Given the description of an element on the screen output the (x, y) to click on. 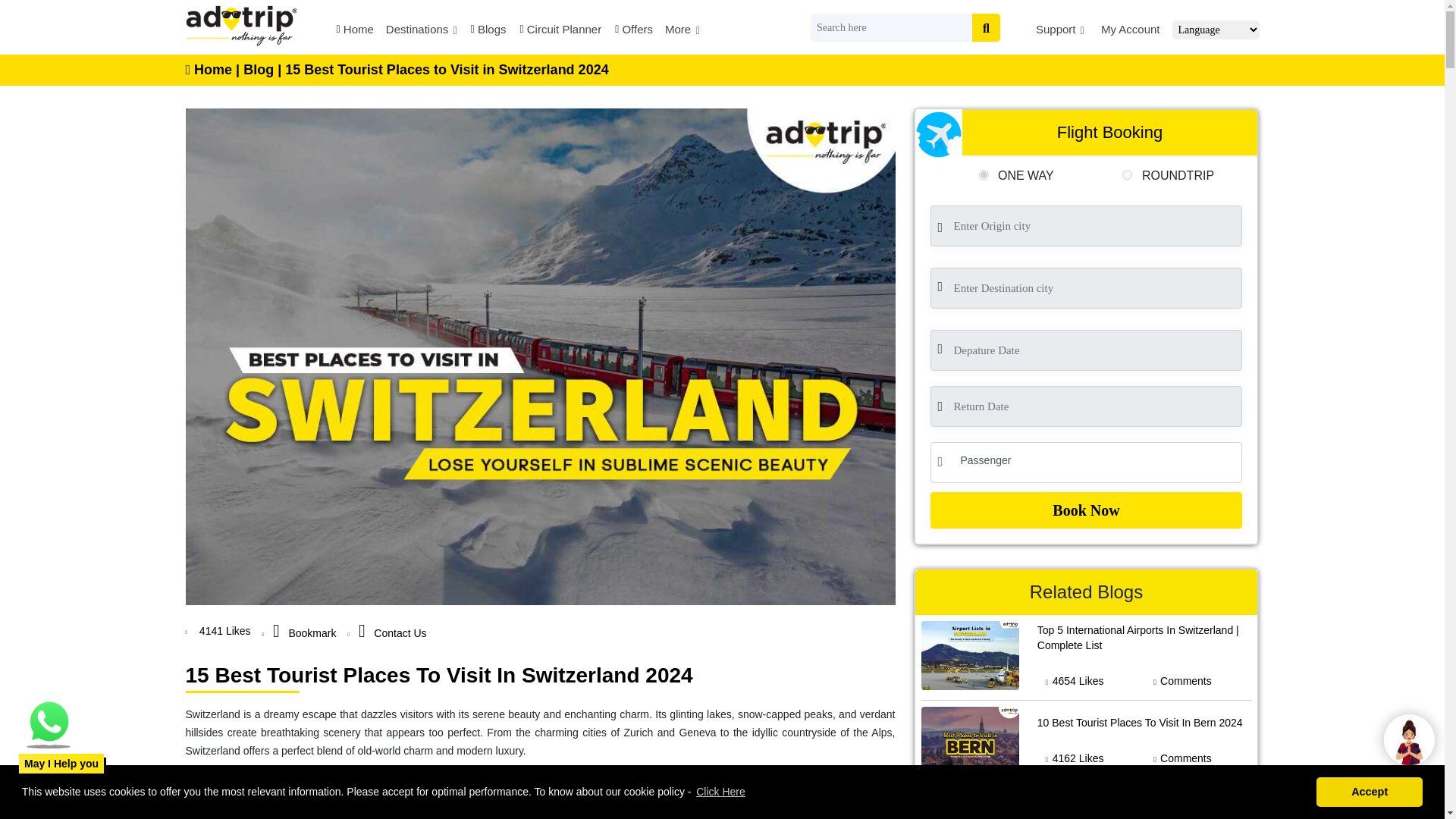
My Account (1128, 31)
Support (1059, 31)
Blogs (487, 31)
15 Best Tourist Places to Visit in Switzerland 2024 (446, 69)
Home (354, 31)
Book Now (1085, 510)
Destinations (421, 31)
Offers (632, 31)
circle (1127, 174)
oneway (983, 174)
Click Here (718, 797)
More (681, 31)
4141 Likes (223, 630)
Circuit Planner (559, 31)
Accept (1369, 796)
